Given the description of an element on the screen output the (x, y) to click on. 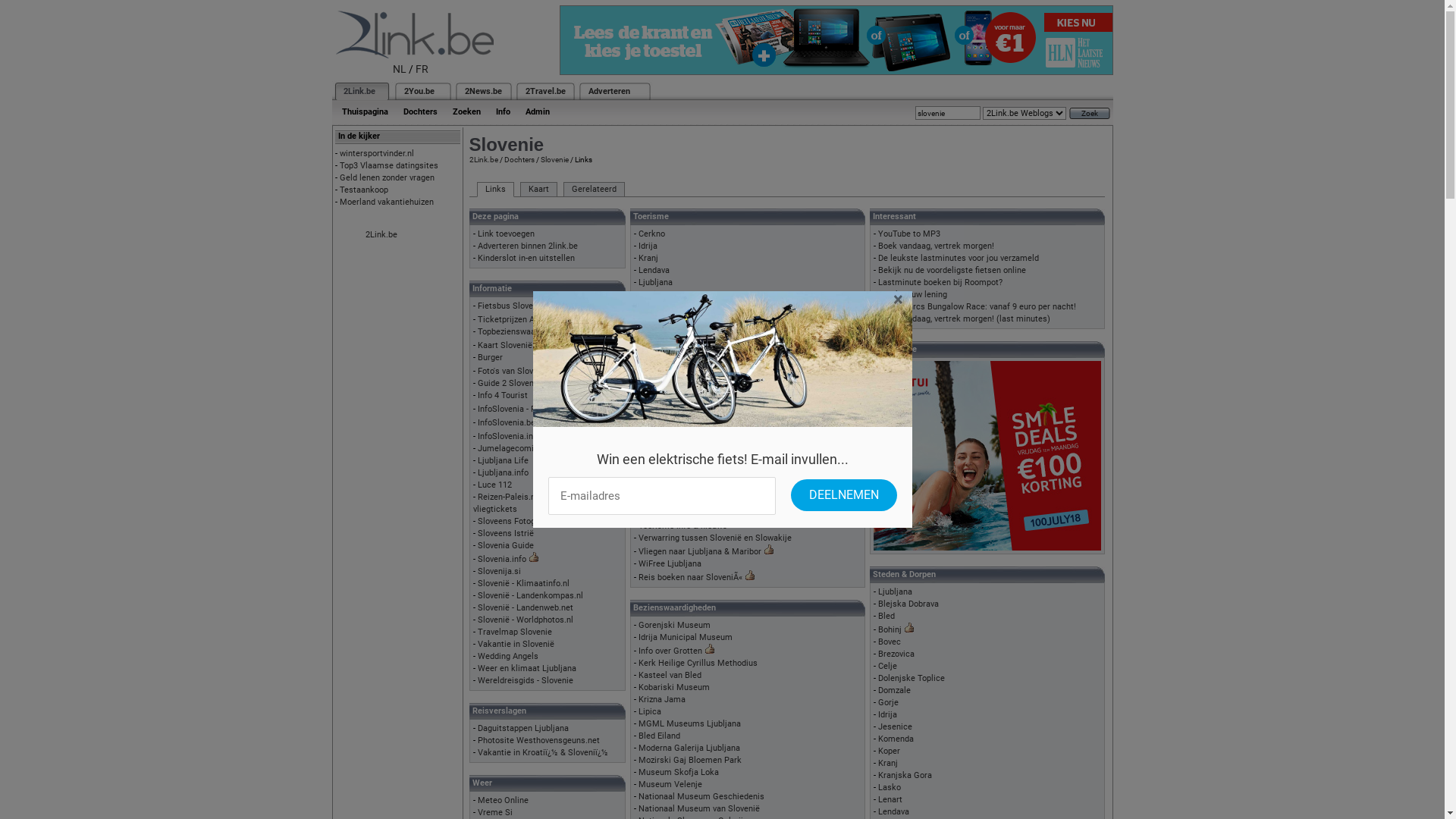
De leukste lastminutes voor jou verzameld Element type: text (958, 258)
Bereken uw lening Element type: text (912, 294)
Gerelateerd Element type: text (593, 189)
Daguitstappen Ljubljana Element type: text (522, 728)
MGML Museums Ljubljana Element type: text (689, 723)
Koper Element type: text (889, 751)
Het Toeristische Bled Element type: text (679, 475)
Burger Element type: text (489, 357)
Topbezienswaardigheden Element type: text (524, 331)
Luce 112 Element type: text (494, 484)
Nationaal Museum Geschiedenis Element type: text (701, 796)
Mozirski Gaj Bloemen Park Element type: text (689, 760)
Info Element type: text (502, 111)
Idrija Municipal Museum Element type: text (685, 637)
Bekijk nu de voordeligste fietsen online Element type: text (952, 270)
Kranj Element type: text (648, 258)
Travelmap Slovenie Element type: text (514, 632)
Komenda Element type: text (895, 738)
2News.be Element type: text (482, 91)
Lipica Element type: text (649, 711)
Kindvriendelijke Hotels Element type: text (681, 489)
Weer en klimaat Ljubljana Element type: text (526, 668)
Lastminute boeken bij Roompot? Element type: text (940, 282)
Slovenie Element type: text (553, 159)
Moerland vakantiehuizen Element type: text (386, 202)
Kaart Element type: text (538, 189)
Ljubljana Element type: text (655, 282)
Bohinj Element type: text (889, 629)
Boek vandaag, vertrek morgen! Element type: text (936, 246)
Admin Element type: text (536, 111)
Guide 2 Slovenia Element type: text (508, 383)
Vliegen naar Ljubljana & Maribor Element type: text (699, 551)
WiFree Ljubljana Element type: text (669, 563)
Daguitstap Ljubljana Element type: text (676, 451)
Thuispagina Element type: text (364, 111)
InfoSlovenia.info Element type: text (508, 436)
Domzale Element type: text (894, 690)
Maribor Element type: text (653, 294)
Dochters Element type: text (518, 159)
Brezovica Element type: text (896, 653)
Lendava Element type: text (893, 811)
Link toevoegen Element type: text (505, 233)
Links Element type: text (494, 189)
CenterParcs Bungalow Race: vanaf 9 euro per nacht! Element type: text (977, 306)
Slovenija.si Element type: text (498, 571)
Maribor Tourism Element type: text (669, 306)
Ticketprijzen Attracties Ljubljana Element type: text (540, 319)
Kranjska Gora Element type: text (904, 775)
Jesenice Element type: text (895, 726)
Kerk Heilige Cyrillus Methodius Element type: text (697, 663)
Slowenien Element type: text (657, 367)
2Travel.be Element type: text (544, 91)
Gorenjski Museum Element type: text (674, 625)
Adverteren binnen 2link.be Element type: text (527, 246)
Ljubljana Life Element type: text (502, 460)
Blejska Dobrava Element type: text (908, 603)
Photosite Westhovensgeuns.net Element type: text (538, 740)
InfoSlovenia - Facebook Element type: text (522, 409)
Kasteel van Bled Element type: text (669, 675)
Celje Element type: text (887, 666)
7% meer toeristen in Ljubljana Element type: text (695, 439)
Adverteren Element type: text (609, 91)
Reizen-Paleis.nl - goedkope vliegtickets Element type: text (526, 503)
Testaankoop Element type: text (363, 189)
Museum Skofja Loka Element type: text (678, 772)
Metlika Element type: text (652, 318)
Gorje Element type: text (888, 702)
Vreme Si Element type: text (494, 812)
Lendava Element type: text (653, 270)
Slovenia Welcomes Element type: text (675, 343)
Kranj Element type: text (887, 763)
YouTube to MP3 Element type: text (909, 233)
Slovenia Guide Element type: text (505, 545)
Dochters Element type: text (420, 111)
Geld lenen zonder vragen Element type: text (386, 177)
Zoeken Element type: text (465, 111)
Bled Eiland Element type: text (659, 735)
FR Element type: text (421, 68)
Meer grotten dan die van Postojna Element type: text (703, 501)
wintersportvinder.nl Element type: text (376, 153)
Museum Velenje Element type: text (670, 784)
Moderna Galerija Ljubljana Element type: text (689, 748)
Wereldreisgids - Slovenie Element type: text (525, 680)
Sloveens Fotografisch Portaal Element type: text (533, 521)
Meteo Online Element type: text (502, 800)
Bled Element type: text (886, 616)
Kobariski Museum Element type: text (673, 687)
Mislinja Element type: text (653, 330)
2Link.be Element type: text (482, 159)
Info over Grotten Element type: text (670, 650)
Bovec Element type: text (889, 641)
Lenart Element type: text (890, 799)
Kinderslot in-en uitstellen Element type: text (525, 258)
Idrija Element type: text (647, 246)
Top3 Vlaamse datingsites Element type: text (388, 165)
Idrija Element type: text (887, 714)
Lasko Element type: text (889, 787)
Boek vandaag, vertrek morgen! (last minutes) Element type: text (964, 318)
InfoSlovenia.be Element type: text (506, 422)
2Link.be Element type: text (381, 234)
Dolenjske Toplice Element type: text (911, 678)
Info 4 Tourist Element type: text (502, 395)
Krizna Jama Element type: text (661, 699)
Toerisme info & nieuws Element type: text (682, 525)
Slovenia.info Element type: text (501, 559)
Ljubljana Element type: text (895, 591)
NL Element type: text (399, 68)
Wedding Angels Element type: text (507, 656)
Cerkno Element type: text (651, 233)
Zoek Element type: text (1089, 113)
2Link.be Element type: text (358, 91)
Ljubljana.info Element type: text (502, 472)
Velenje Element type: text (652, 379)
2You.be Element type: text (418, 91)
